Given the description of an element on the screen output the (x, y) to click on. 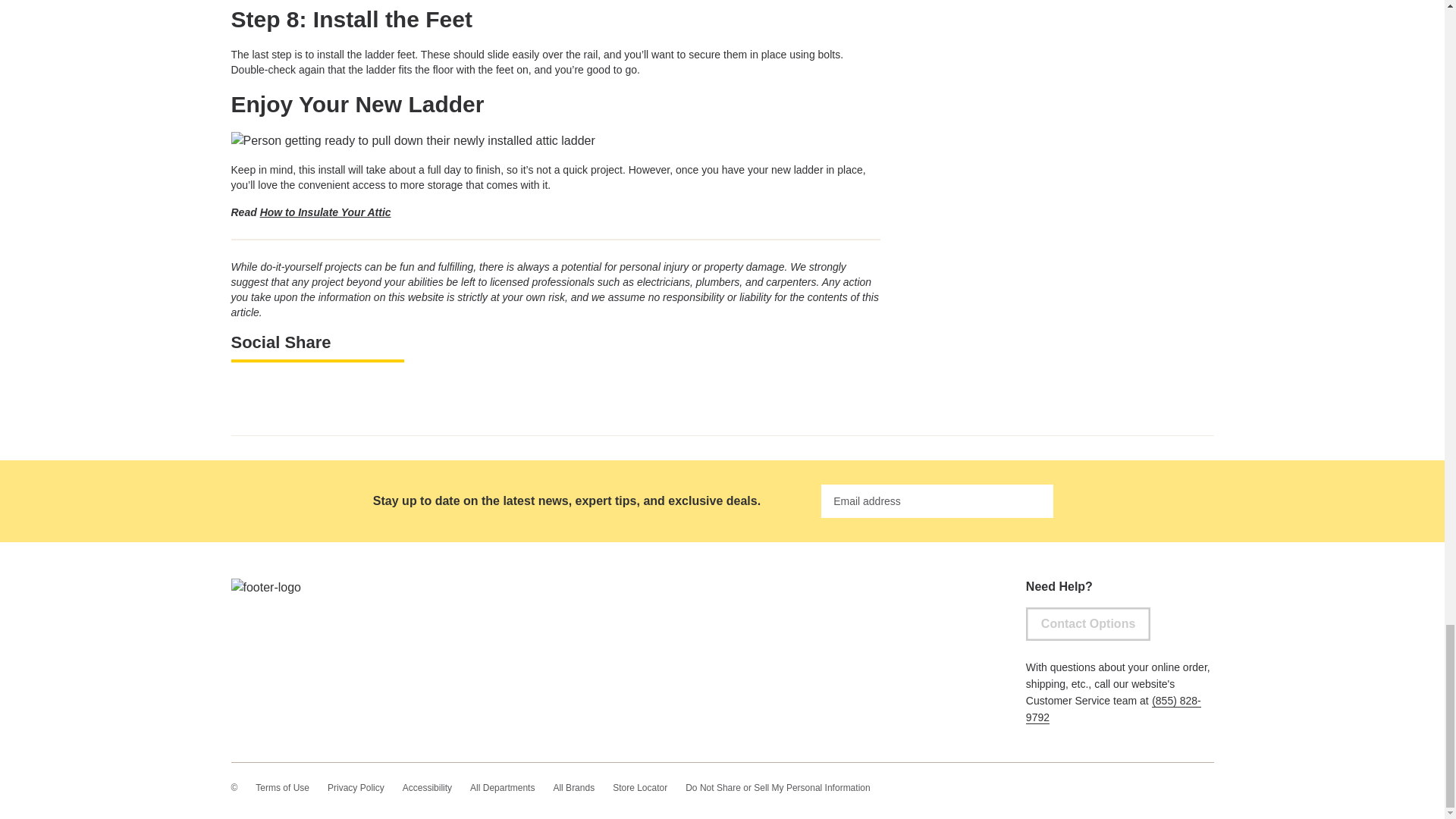
All Brands (573, 787)
Accessibility (427, 787)
Contact Options (1088, 623)
Do Not Share or Sell My Personal Information (777, 787)
Store Locator (639, 787)
How to Insulate Your Attic (325, 212)
Contact Options (1088, 623)
Privacy Policy (355, 787)
Terms of Use (282, 787)
